Given the description of an element on the screen output the (x, y) to click on. 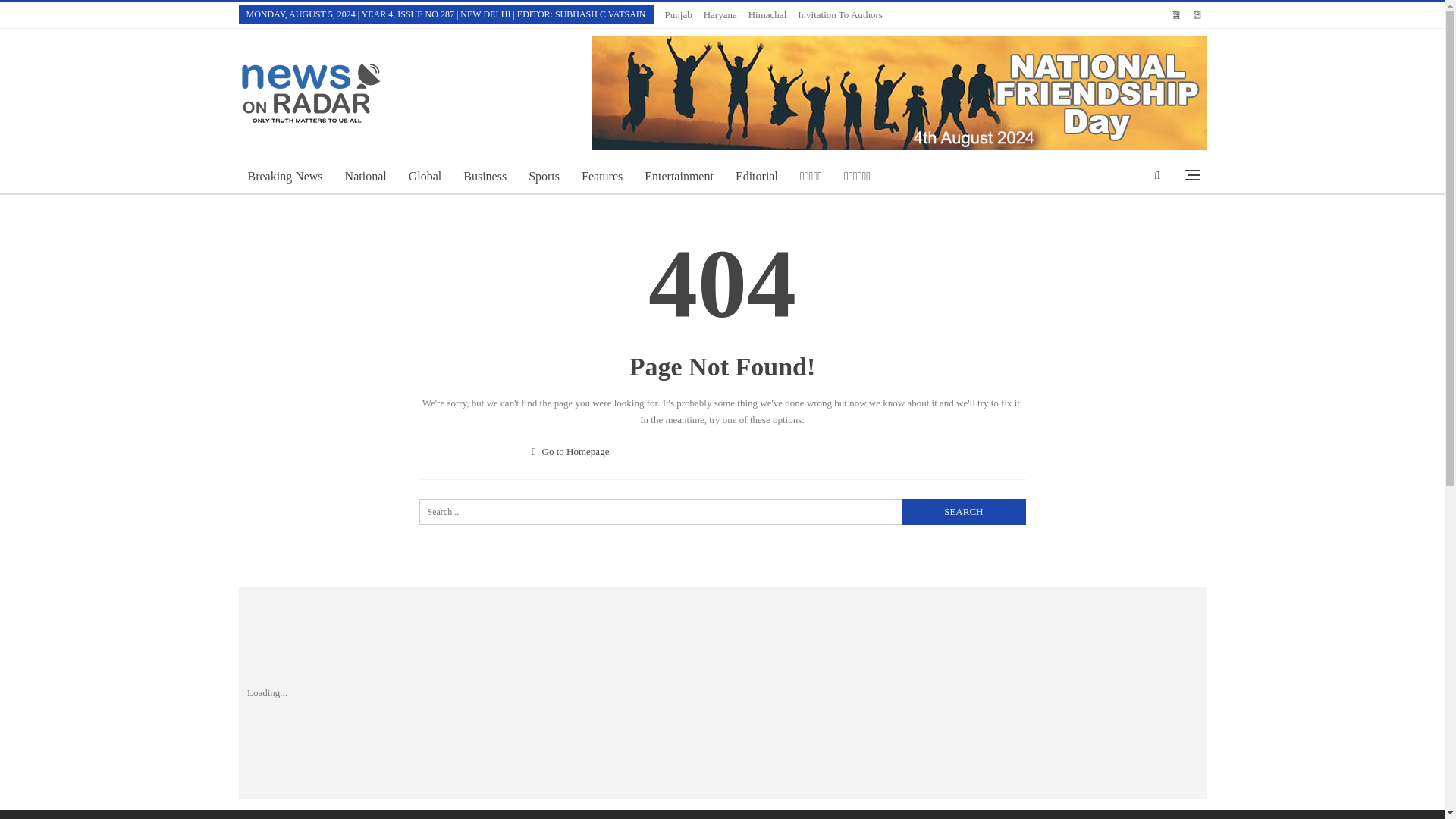
Search (963, 511)
Go to Homepage (571, 451)
Breaking News (284, 176)
Business (484, 176)
Sports (544, 176)
Search (963, 511)
National (366, 176)
Editorial (756, 176)
Himachal (767, 14)
Invitation To Authors (839, 14)
